Given the description of an element on the screen output the (x, y) to click on. 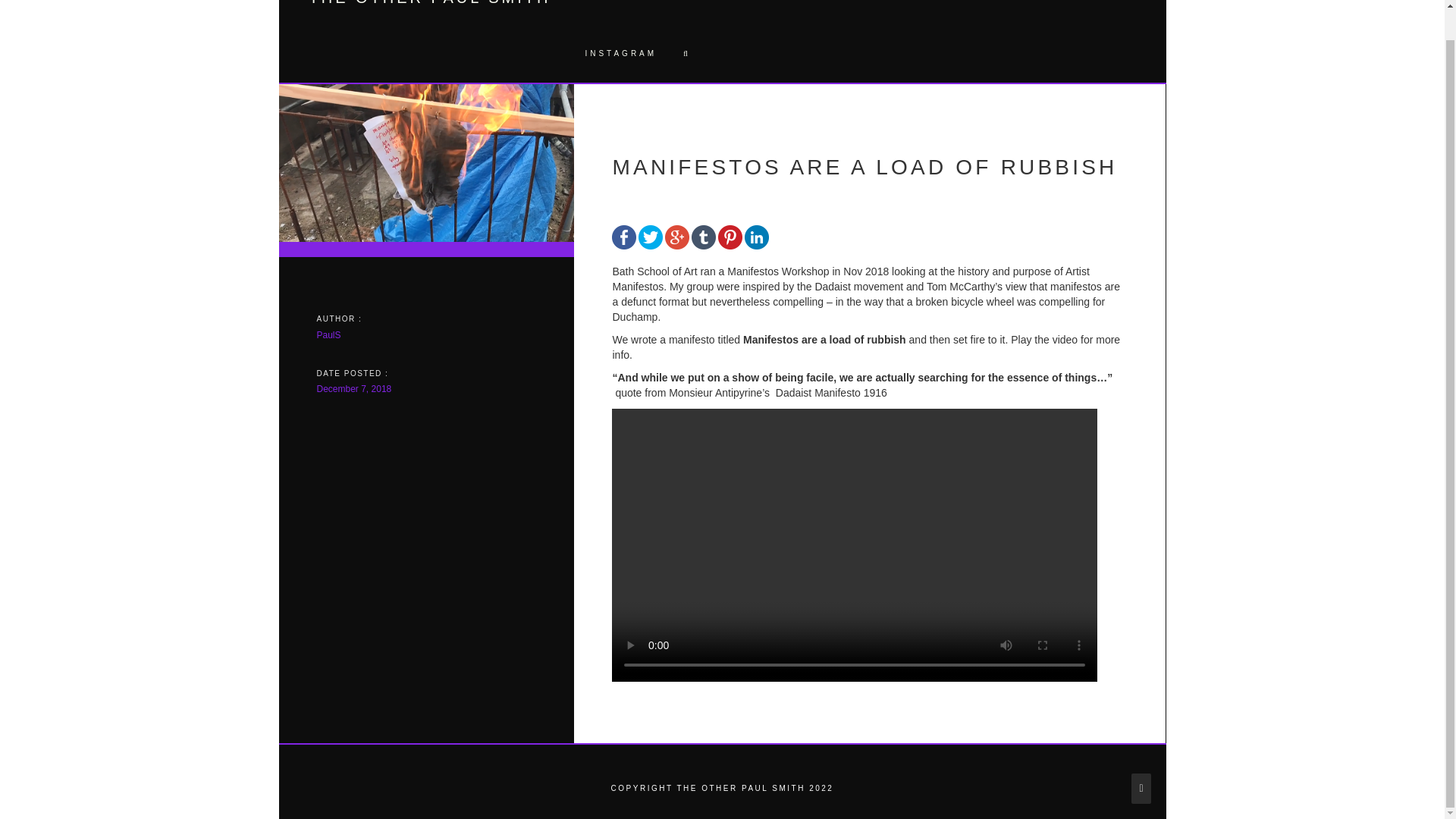
CONTACT (1036, 12)
PORTFOLIO (683, 12)
ABOUT ME (781, 12)
PaulS (328, 335)
INSTAGRAM (618, 53)
Posts by PaulS (328, 335)
CATALOGUES (880, 12)
THE OTHER PAUL SMITH (429, 2)
BLOG (965, 12)
HOME (600, 12)
